Given the description of an element on the screen output the (x, y) to click on. 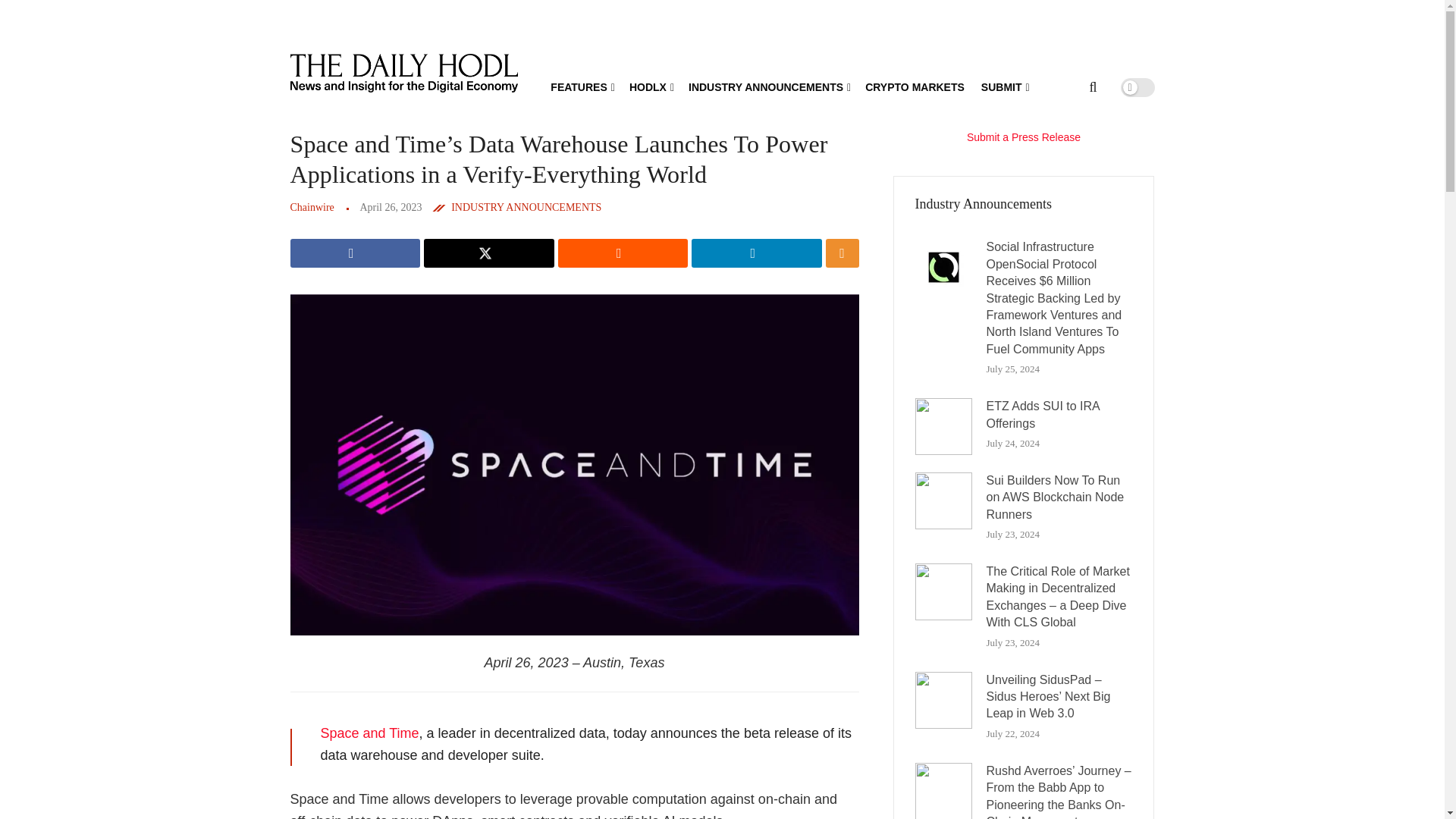
INDUSTRY ANNOUNCEMENTS (768, 86)
CRYPTO MARKETS (913, 86)
FEATURES (581, 86)
HODLX (649, 86)
SUBMIT (1004, 86)
